Given the description of an element on the screen output the (x, y) to click on. 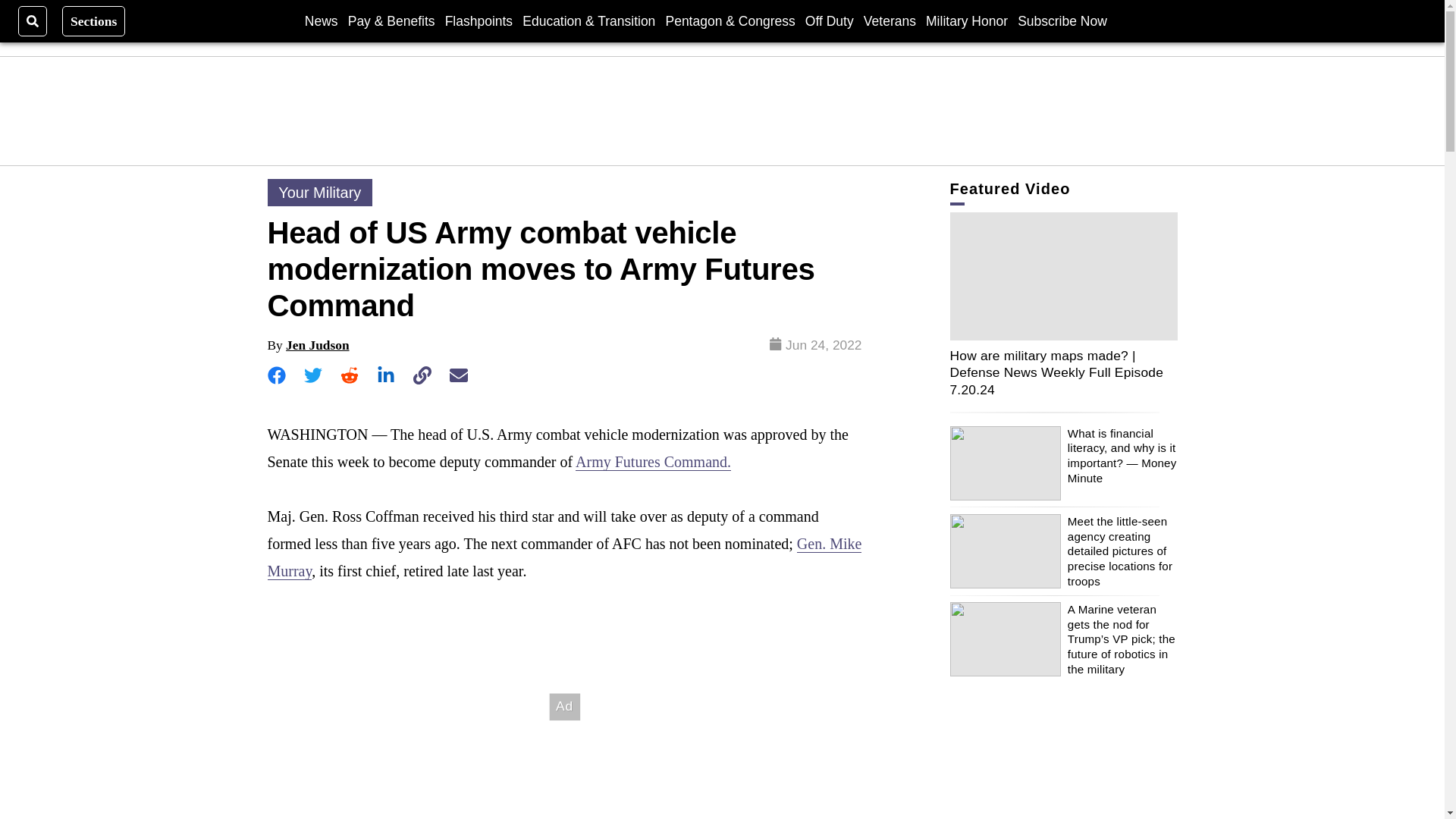
Sections (93, 20)
Flashpoints (479, 20)
Military Honor (966, 20)
Off Duty (829, 20)
News (320, 20)
Veterans (889, 20)
